Given the description of an element on the screen output the (x, y) to click on. 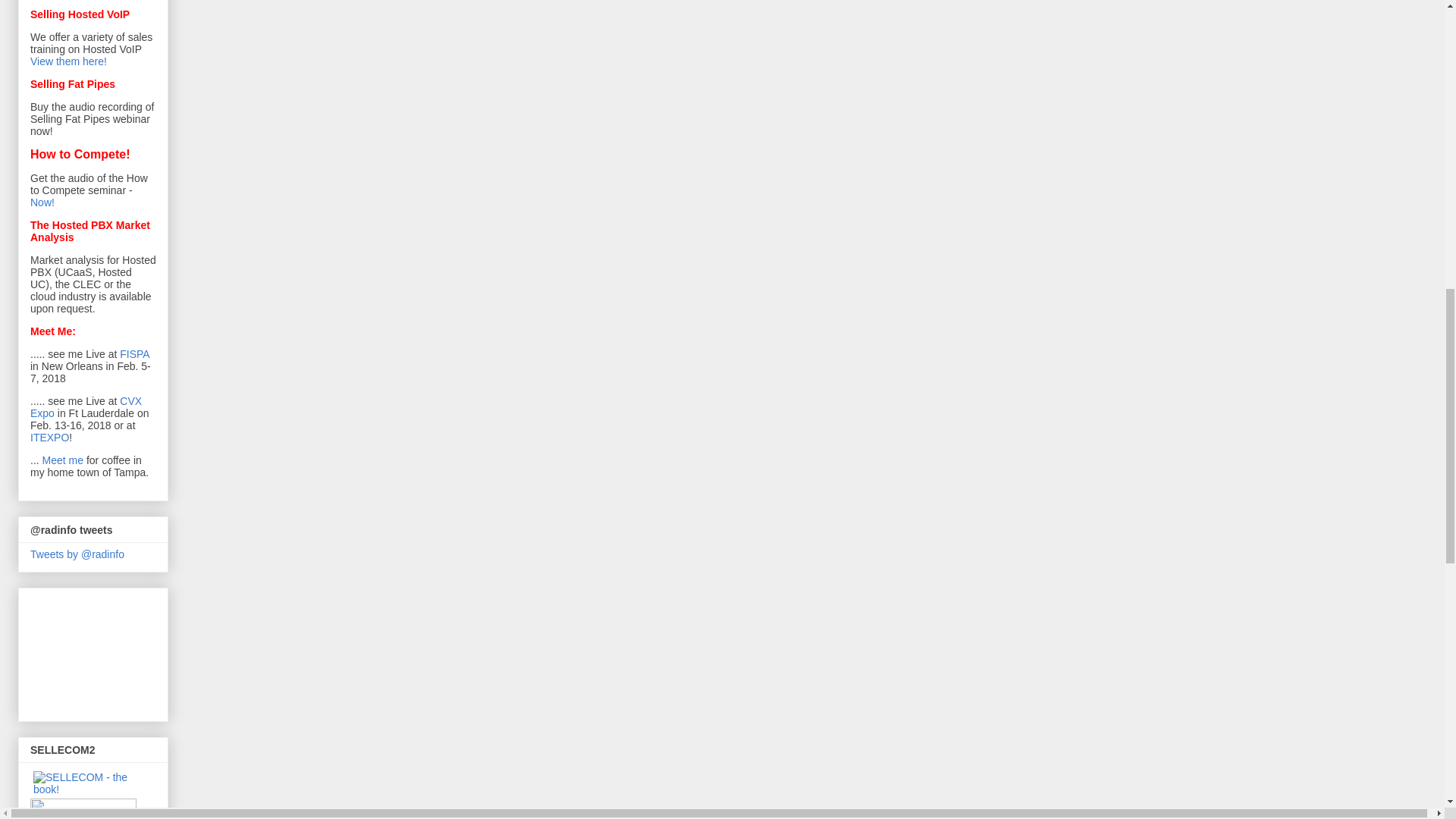
ITEXPO (49, 437)
Now! (42, 202)
View them here! (68, 61)
CVX Expo (85, 406)
FISPA (134, 354)
Meet me (62, 460)
Advertisement (98, 650)
